Given the description of an element on the screen output the (x, y) to click on. 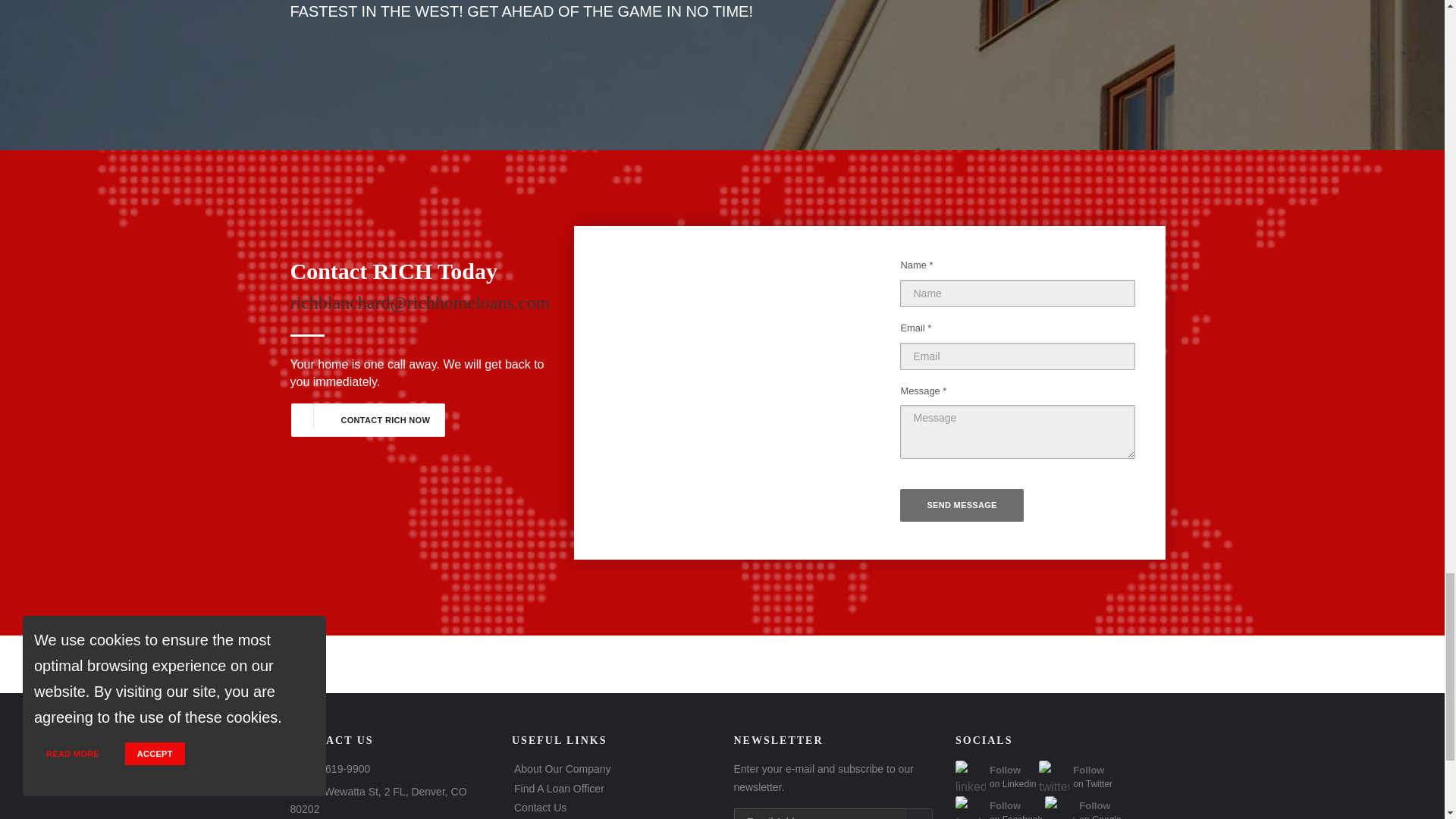
CONTACT RICH NOW (367, 419)
About Our Company (998, 816)
Find A Loan Officer (562, 768)
SEND MESSAGE (1083, 816)
Contact Us (558, 788)
